Given the description of an element on the screen output the (x, y) to click on. 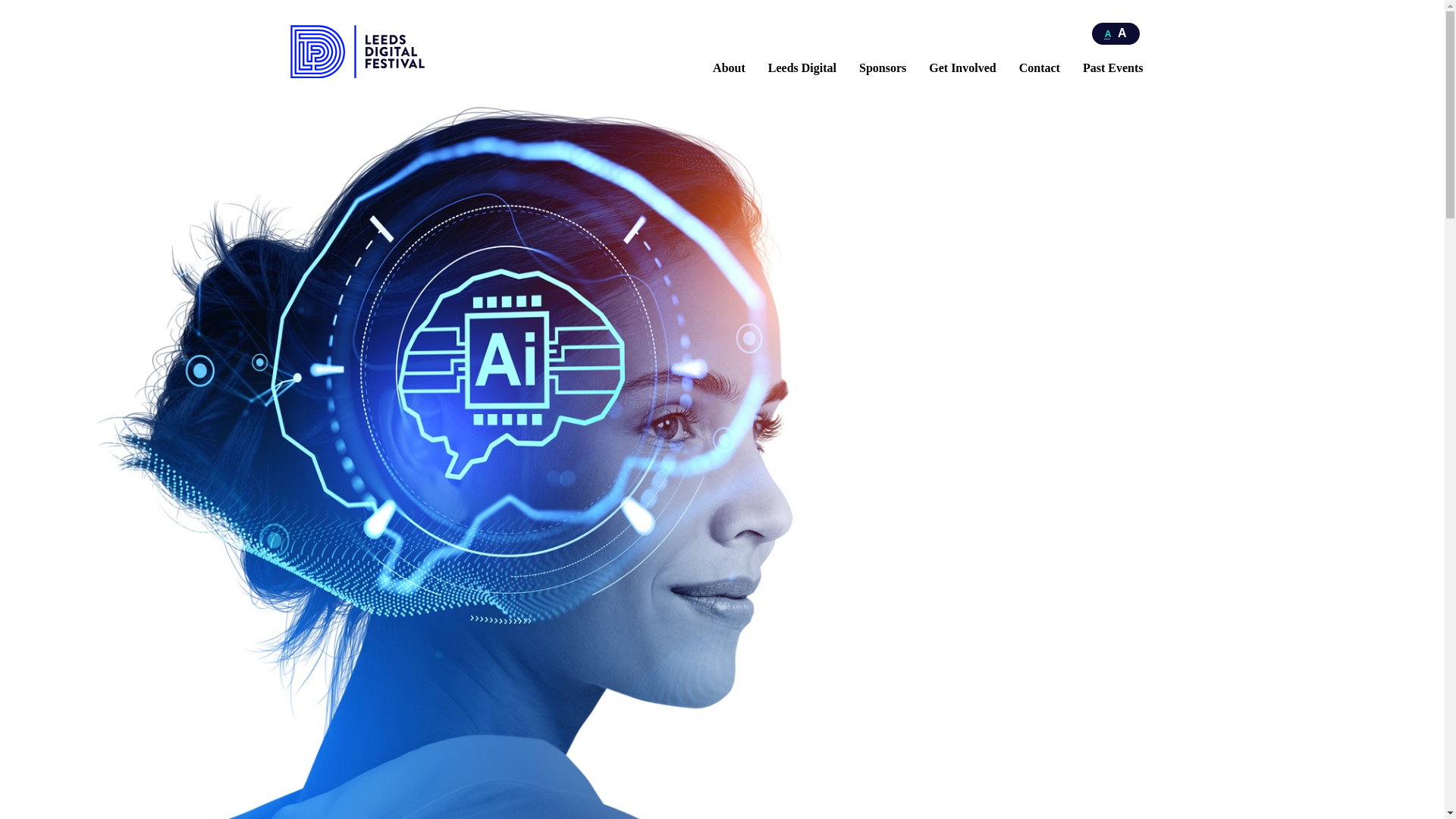
Contact (1039, 68)
About (729, 68)
Leeds Digital (801, 68)
Past Events (1112, 68)
Sponsors (882, 68)
Get Involved (961, 68)
A A (1116, 33)
